Given the description of an element on the screen output the (x, y) to click on. 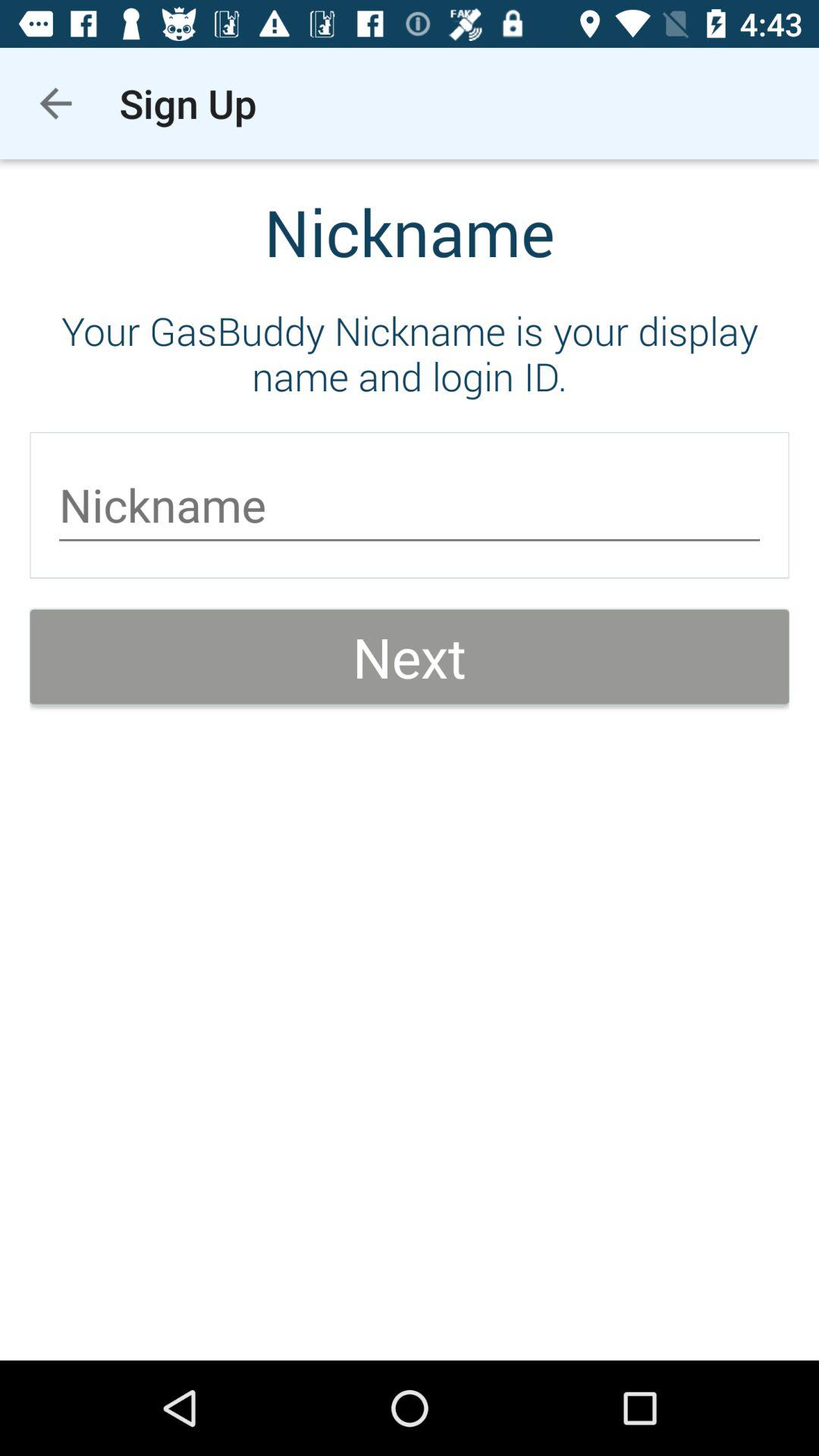
turn on the icon above your gasbuddy nickname icon (55, 103)
